Given the description of an element on the screen output the (x, y) to click on. 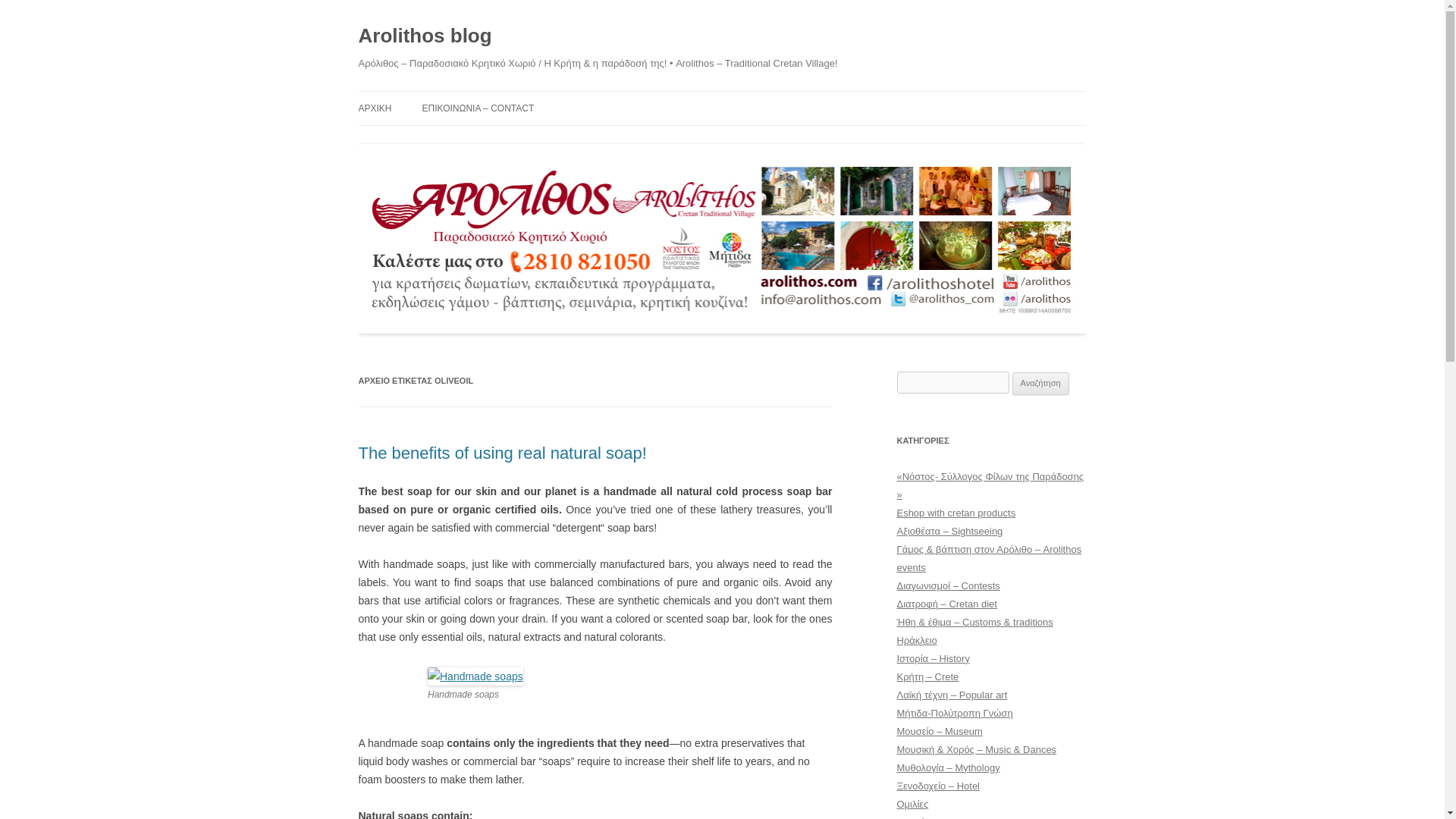
Arolithos blog (425, 36)
The benefits of using real natural soap! (502, 452)
Eshop with cretan products (955, 512)
